Given the description of an element on the screen output the (x, y) to click on. 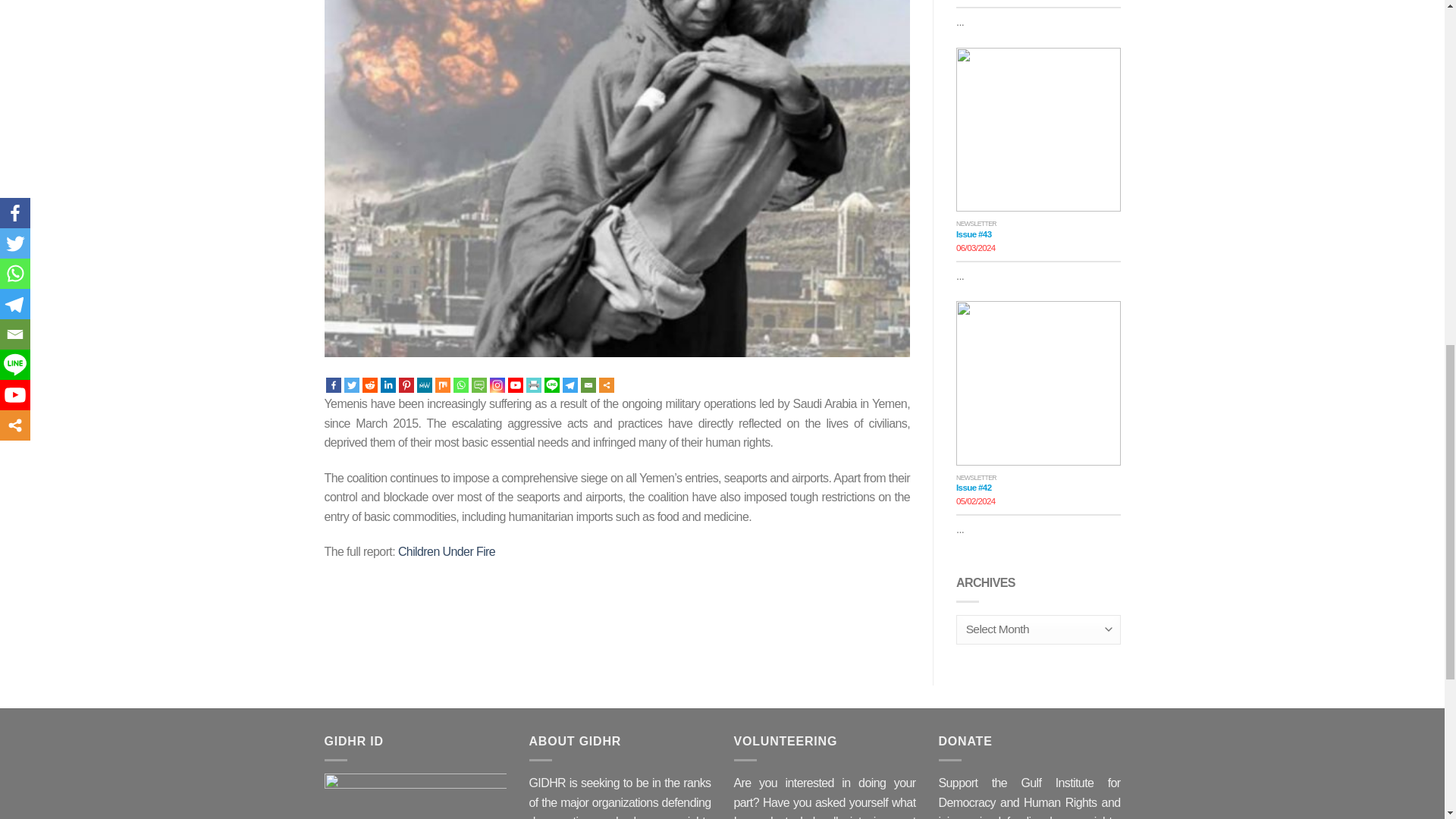
Linkedin (388, 385)
Twitter (351, 385)
Facebook (333, 385)
Reddit (369, 385)
